Given the description of an element on the screen output the (x, y) to click on. 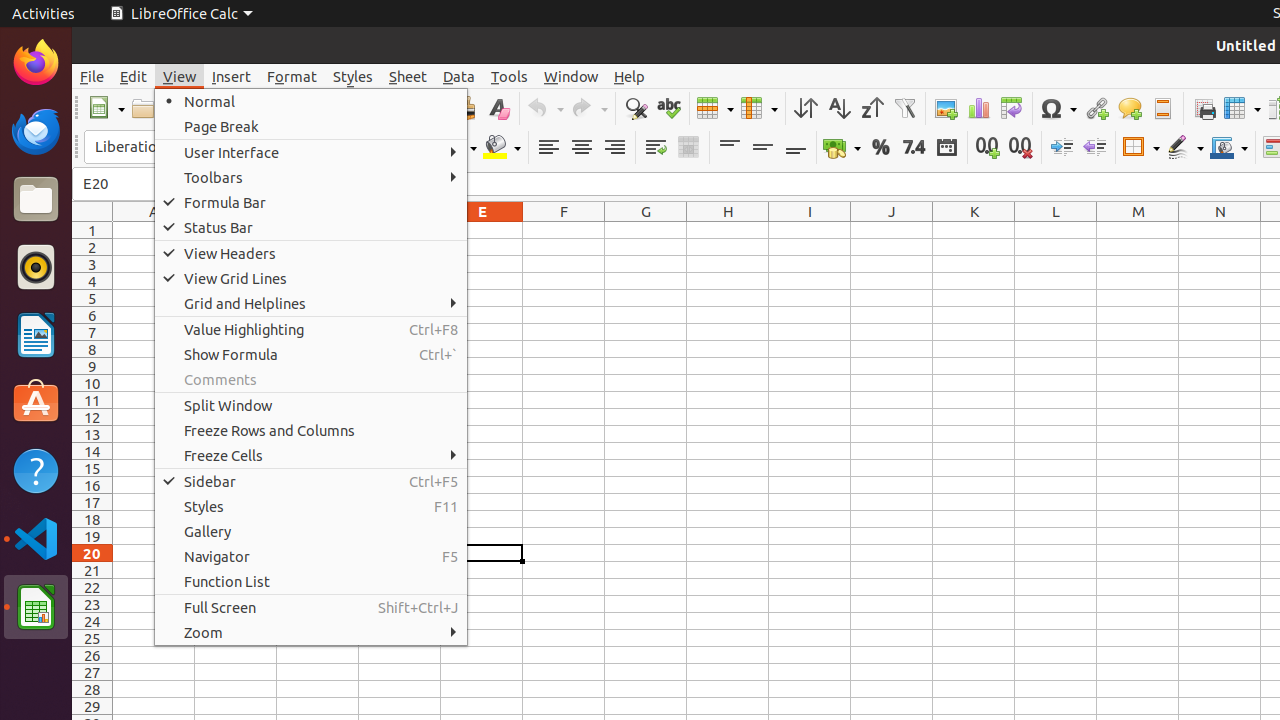
Value Highlighting Element type: check-menu-item (311, 329)
Status Bar Element type: check-menu-item (311, 227)
Thunderbird Mail Element type: push-button (36, 131)
Toolbars Element type: menu (311, 177)
Undo Element type: push-button (545, 108)
